Given the description of an element on the screen output the (x, y) to click on. 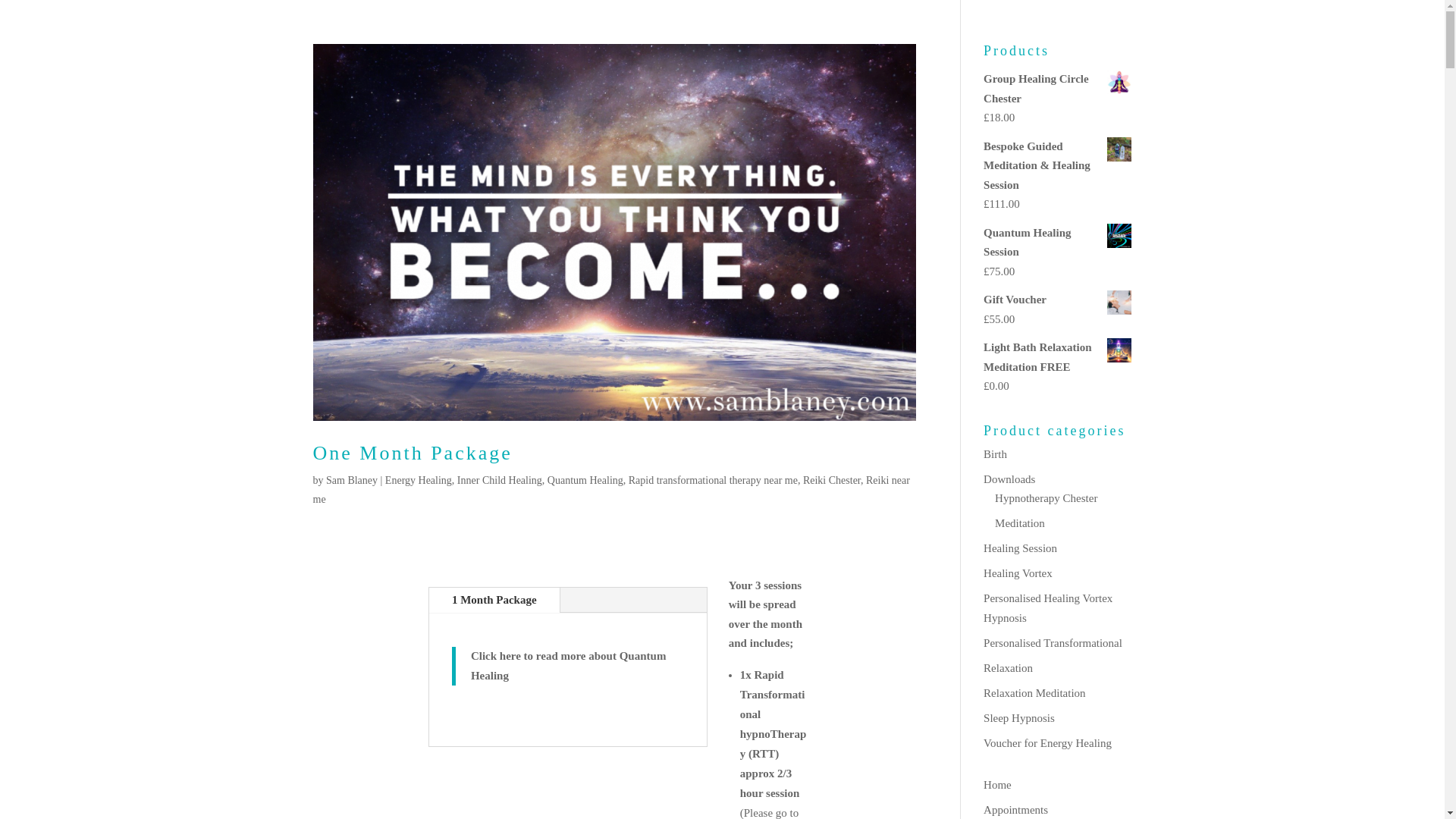
Birth (995, 453)
Hypnotherapy Chester (1045, 498)
Reiki near me (610, 490)
One Month Package (412, 453)
Quantum Healing (585, 480)
Group Healing Circle Chester (1057, 88)
Reiki Chester (831, 480)
Quantum Healing Session (1057, 241)
Downloads (1009, 479)
Energy Healing (418, 480)
